Given the description of an element on the screen output the (x, y) to click on. 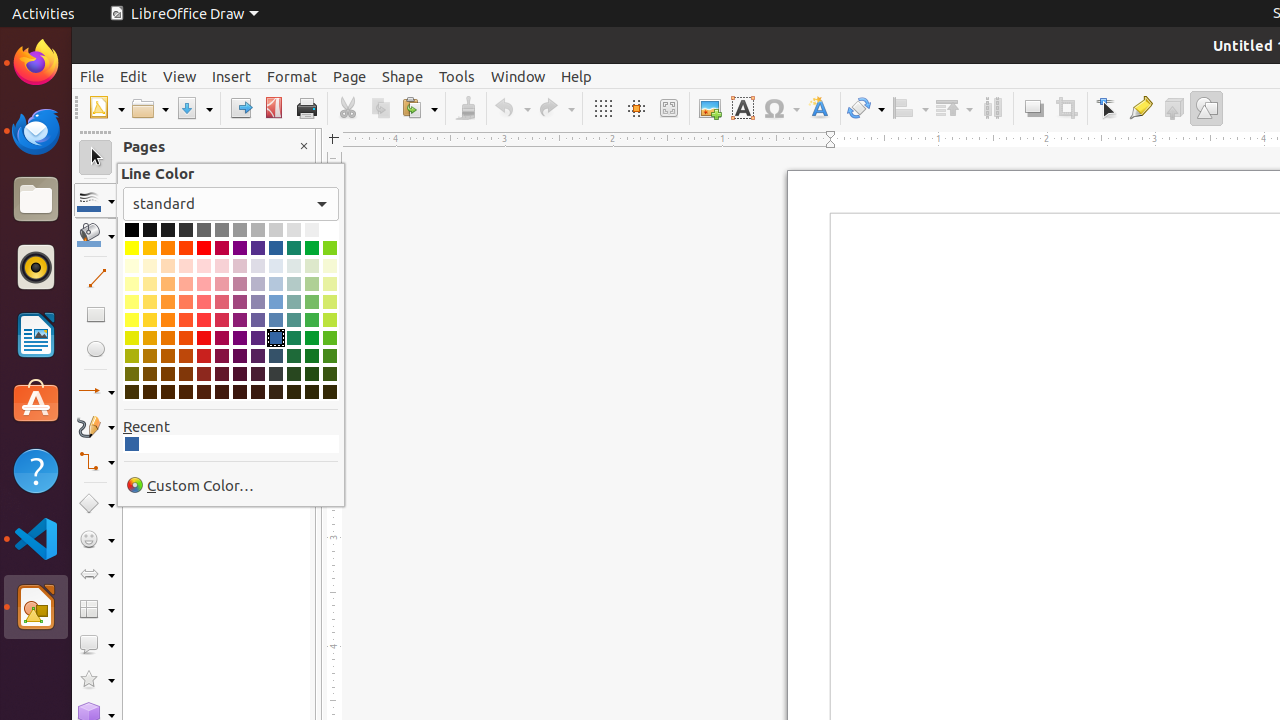
Yellow Element type: list-item (132, 248)
Light Teal 4 Element type: list-item (294, 266)
Orange Element type: list-item (168, 248)
Light Green 4 Element type: list-item (312, 266)
Grid Element type: toggle-button (602, 108)
